Given the description of an element on the screen output the (x, y) to click on. 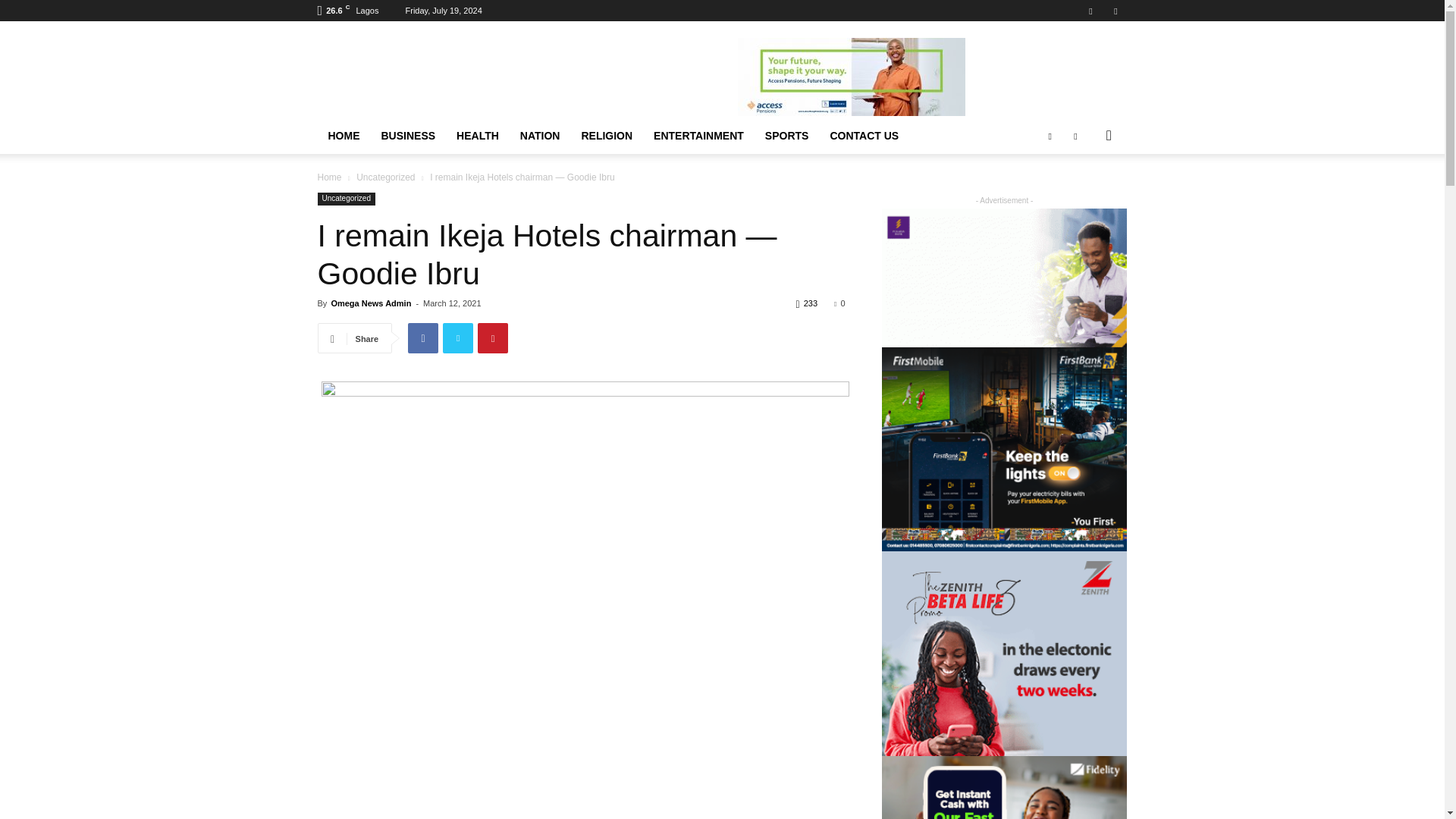
ENTERTAINMENT (698, 135)
View all posts in Uncategorized (385, 176)
Home (328, 176)
Omega News Admin (370, 302)
Uncategorized (345, 198)
NATION (539, 135)
CONTACT US (863, 135)
RELIGION (606, 135)
Twitter (1114, 10)
Uncategorized (385, 176)
HEALTH (477, 135)
0 (839, 302)
HOME (343, 135)
BUSINESS (407, 135)
Facebook (1090, 10)
